Given the description of an element on the screen output the (x, y) to click on. 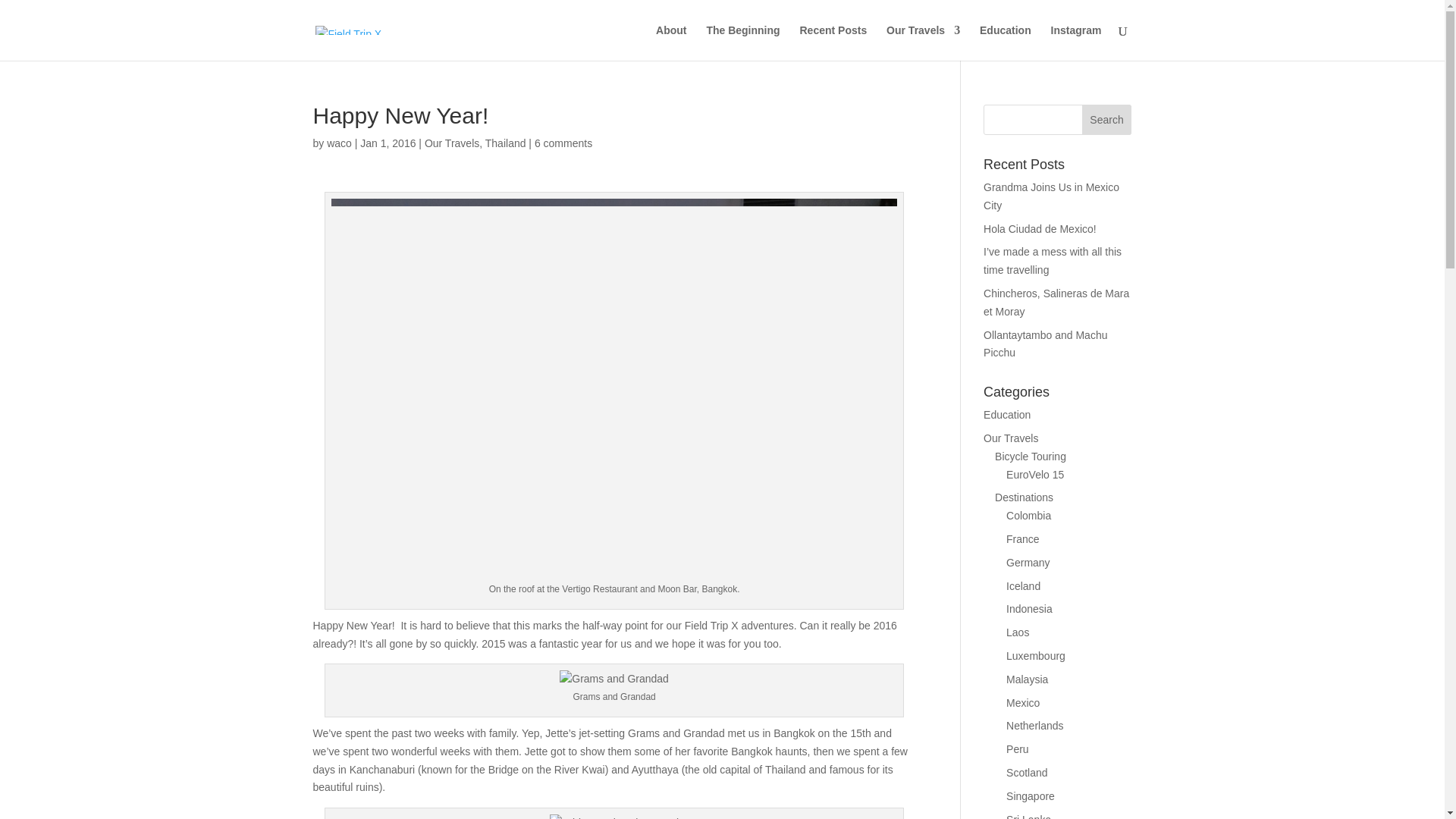
Chincheros, Salineras de Mara et Moray (1056, 302)
Search (1106, 119)
Our Travels (1011, 438)
Instagram (1076, 42)
Bicycle Touring (1029, 456)
Thailand (504, 143)
Our Travels (922, 42)
6 comments (563, 143)
waco (339, 143)
Education (1007, 414)
Hola Ciudad de Mexico! (1040, 228)
Education (1004, 42)
Recent Posts (832, 42)
Grandma Joins Us in Mexico City (1051, 195)
The Beginning (742, 42)
